Given the description of an element on the screen output the (x, y) to click on. 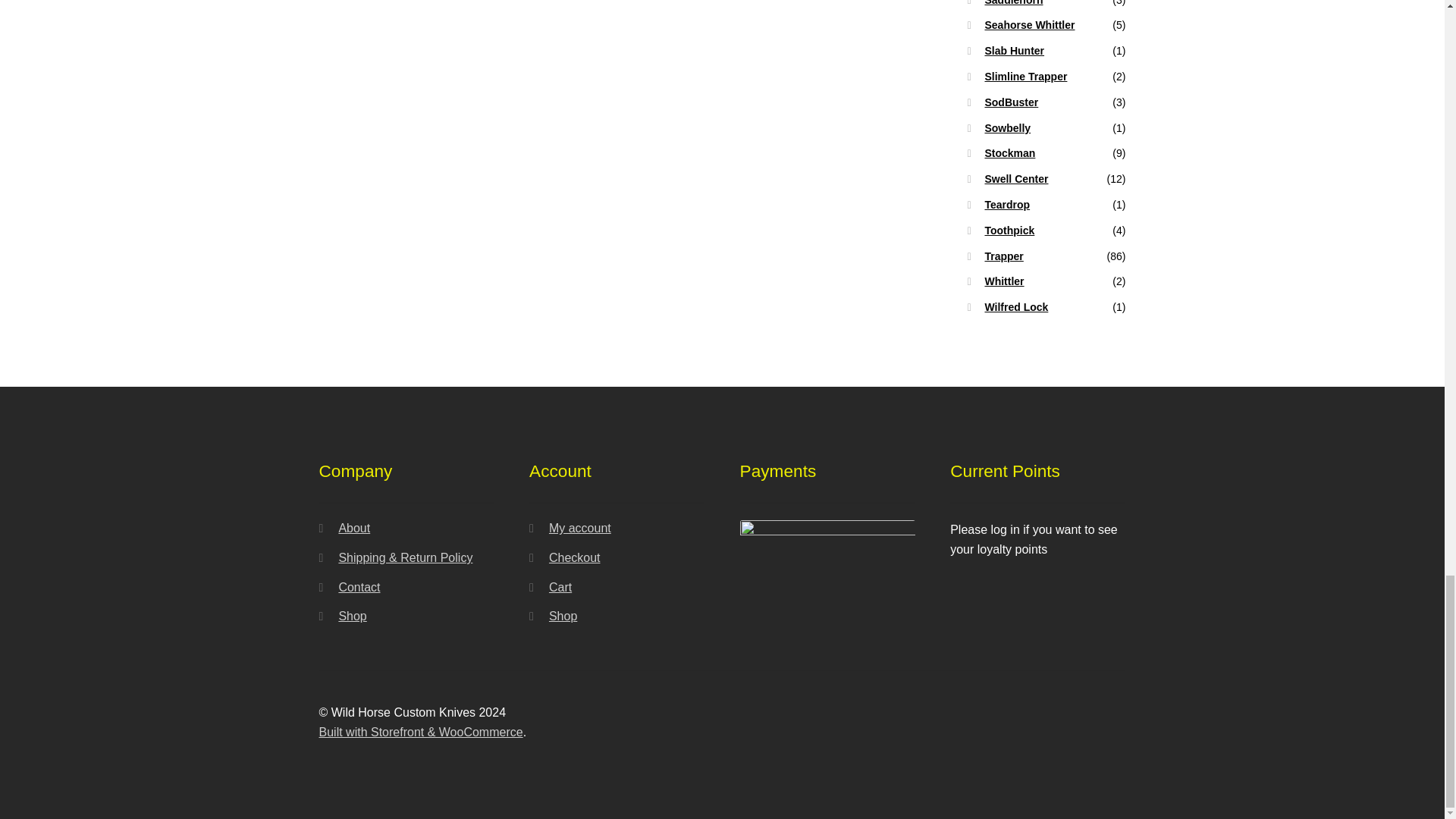
WooCommerce - The Best eCommerce Platform for WordPress (420, 731)
